Given the description of an element on the screen output the (x, y) to click on. 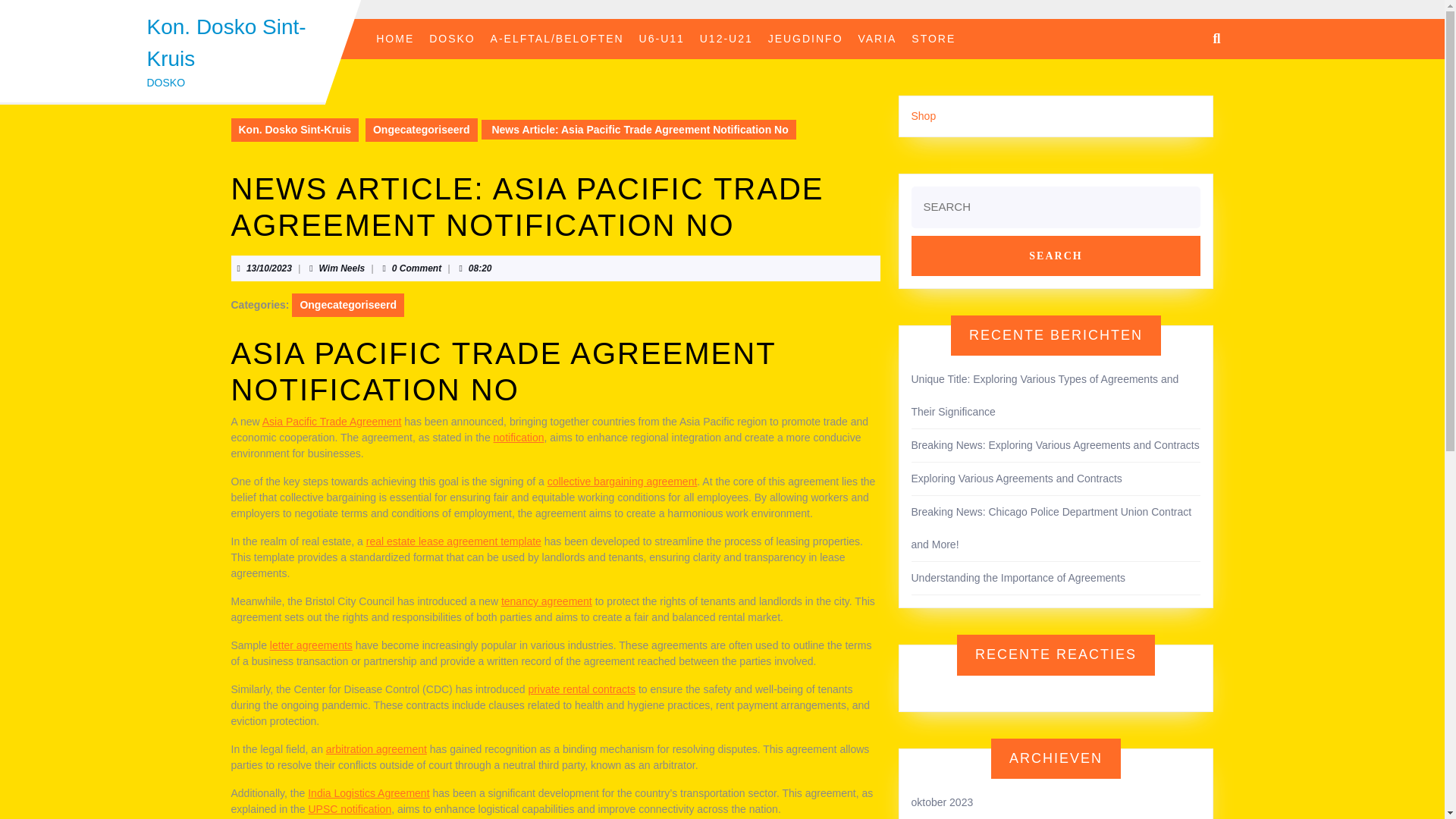
Kon. Dosko Sint-Kruis (226, 42)
U12-U21 (726, 39)
HOME (394, 39)
U6-U11 (661, 39)
SEARCH (1056, 255)
SEARCH (1056, 255)
DOSKO (452, 39)
